Given the description of an element on the screen output the (x, y) to click on. 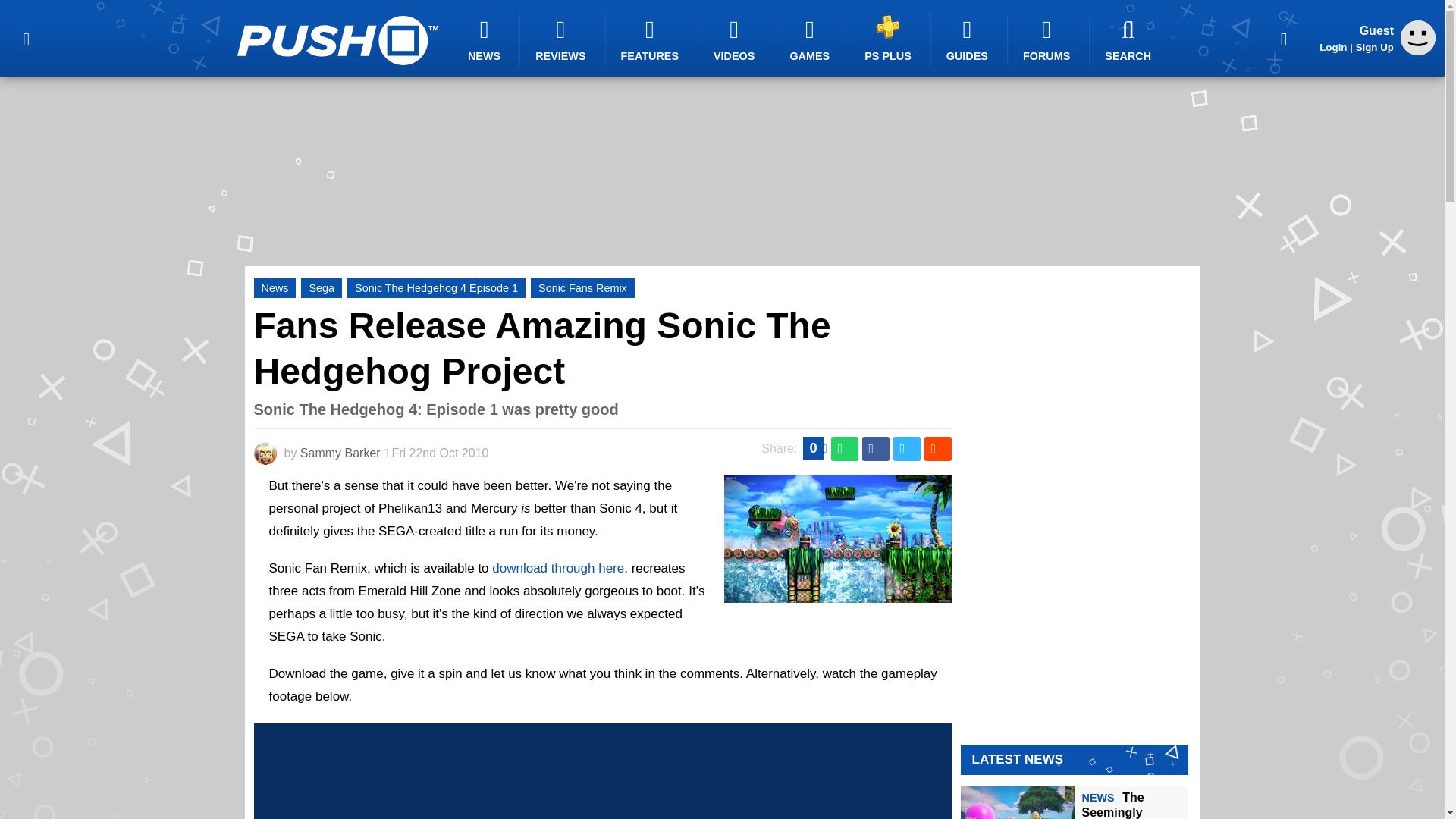
Sign Up (1374, 47)
Push Square (336, 40)
REVIEWS (562, 39)
Menu (26, 37)
SEARCH (1129, 39)
Share This Page (1283, 37)
Guest (1417, 37)
FORUMS (1048, 39)
Guest (1417, 51)
Push Square (336, 40)
GUIDES (969, 39)
FEATURES (651, 39)
Login (1332, 47)
GAMES (811, 39)
PS PLUS (889, 38)
